Given the description of an element on the screen output the (x, y) to click on. 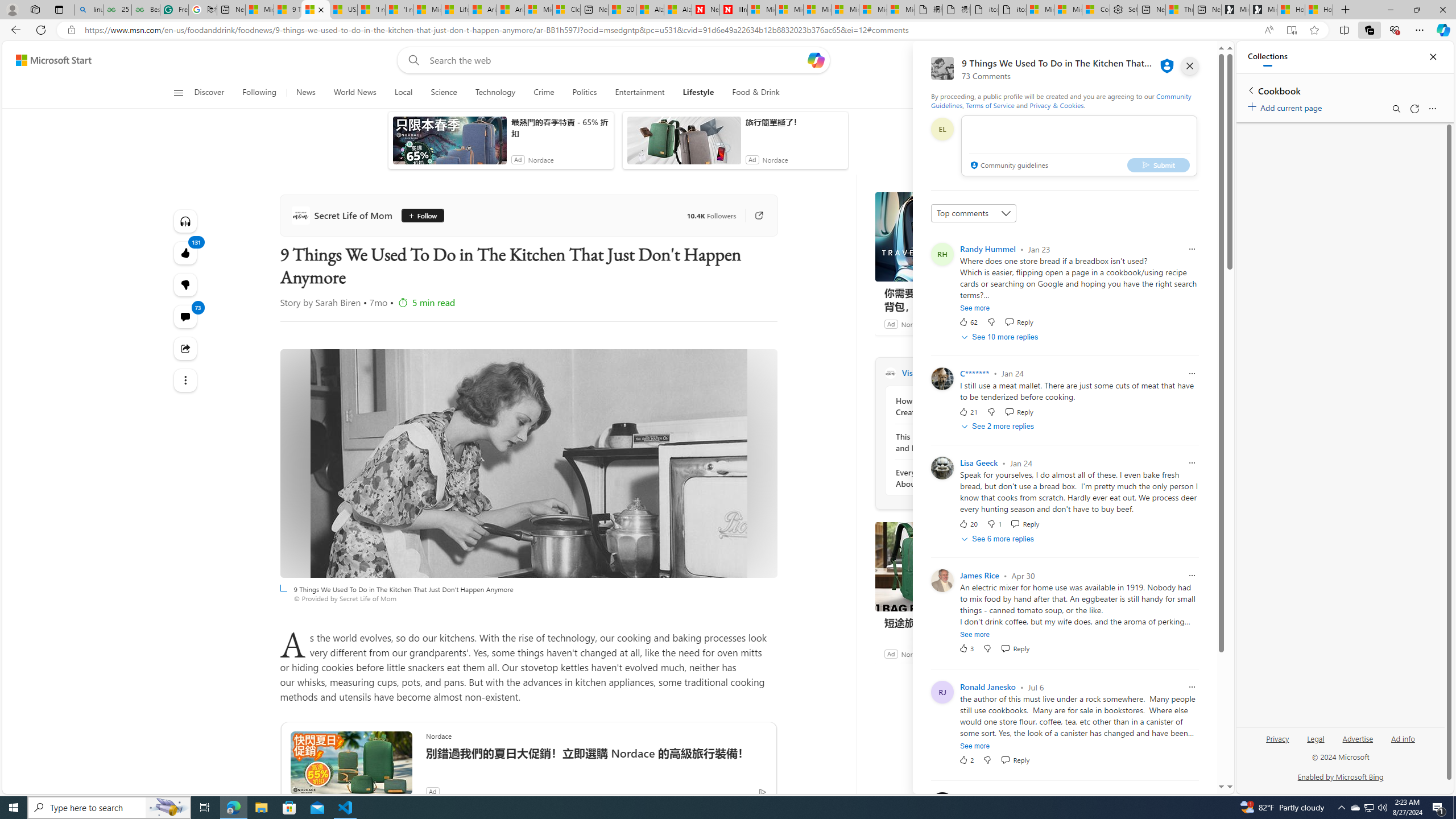
USA TODAY - MSN (343, 9)
close (1189, 65)
Listen to this article (184, 220)
Back to list of collections (1250, 90)
How to Use a TV as a Computer Monitor (1319, 9)
131 (184, 284)
Ronald Janesko (987, 687)
Class: at-item (184, 380)
Share this story (184, 348)
